Given the description of an element on the screen output the (x, y) to click on. 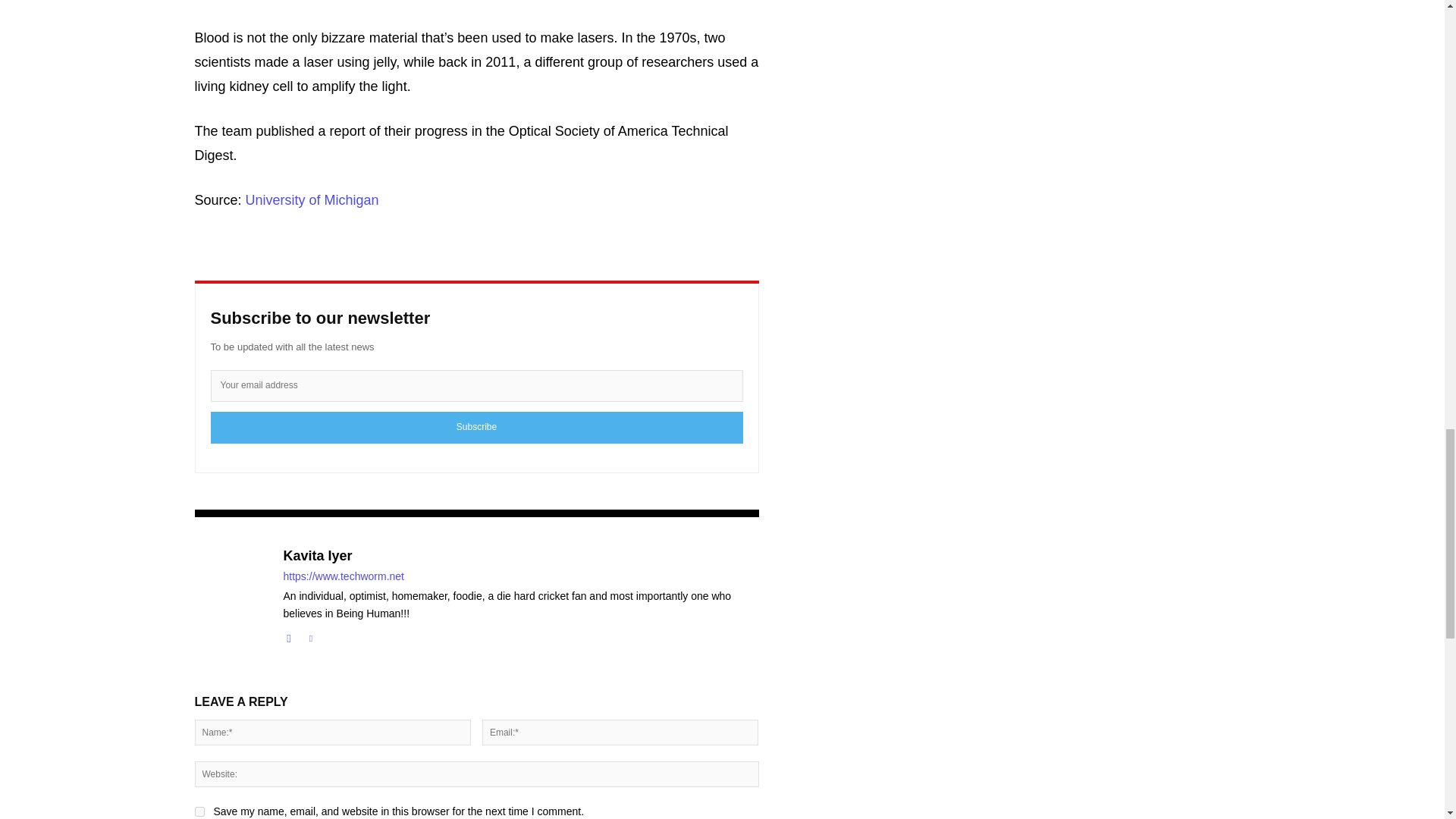
Twitter (309, 635)
yes (198, 811)
Facebook (289, 635)
Kavita Iyer (520, 556)
Subscribe (476, 427)
University of Michigan (312, 200)
